Given the description of an element on the screen output the (x, y) to click on. 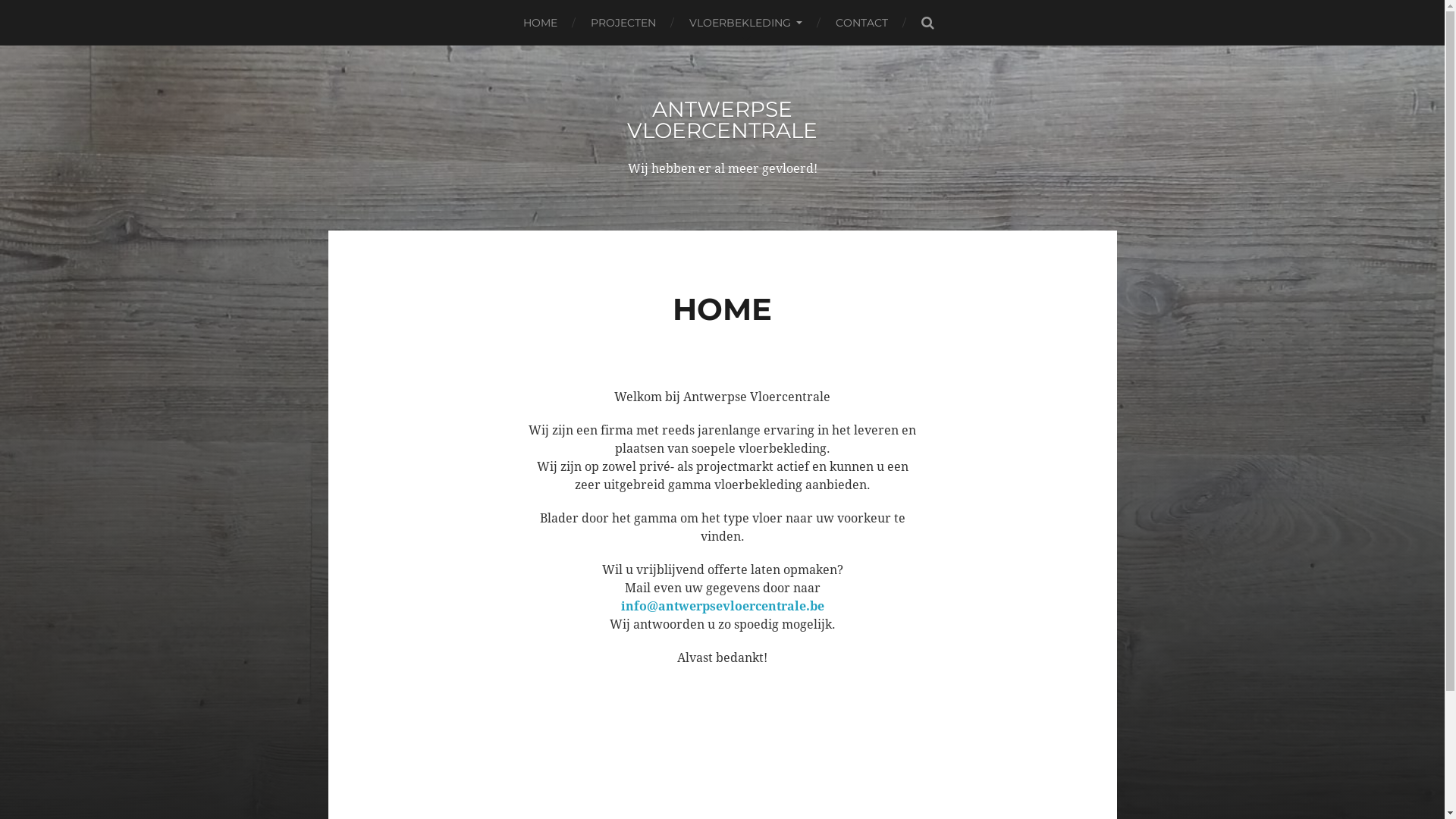
info@antwerpsevloercentrale.be Element type: text (721, 606)
CONTACT Element type: text (861, 22)
VLOERBEKLEDING Element type: text (745, 22)
HOME Element type: text (540, 22)
PROJECTEN Element type: text (622, 22)
ANTWERPSE VLOERCENTRALE Element type: text (722, 119)
